Given the description of an element on the screen output the (x, y) to click on. 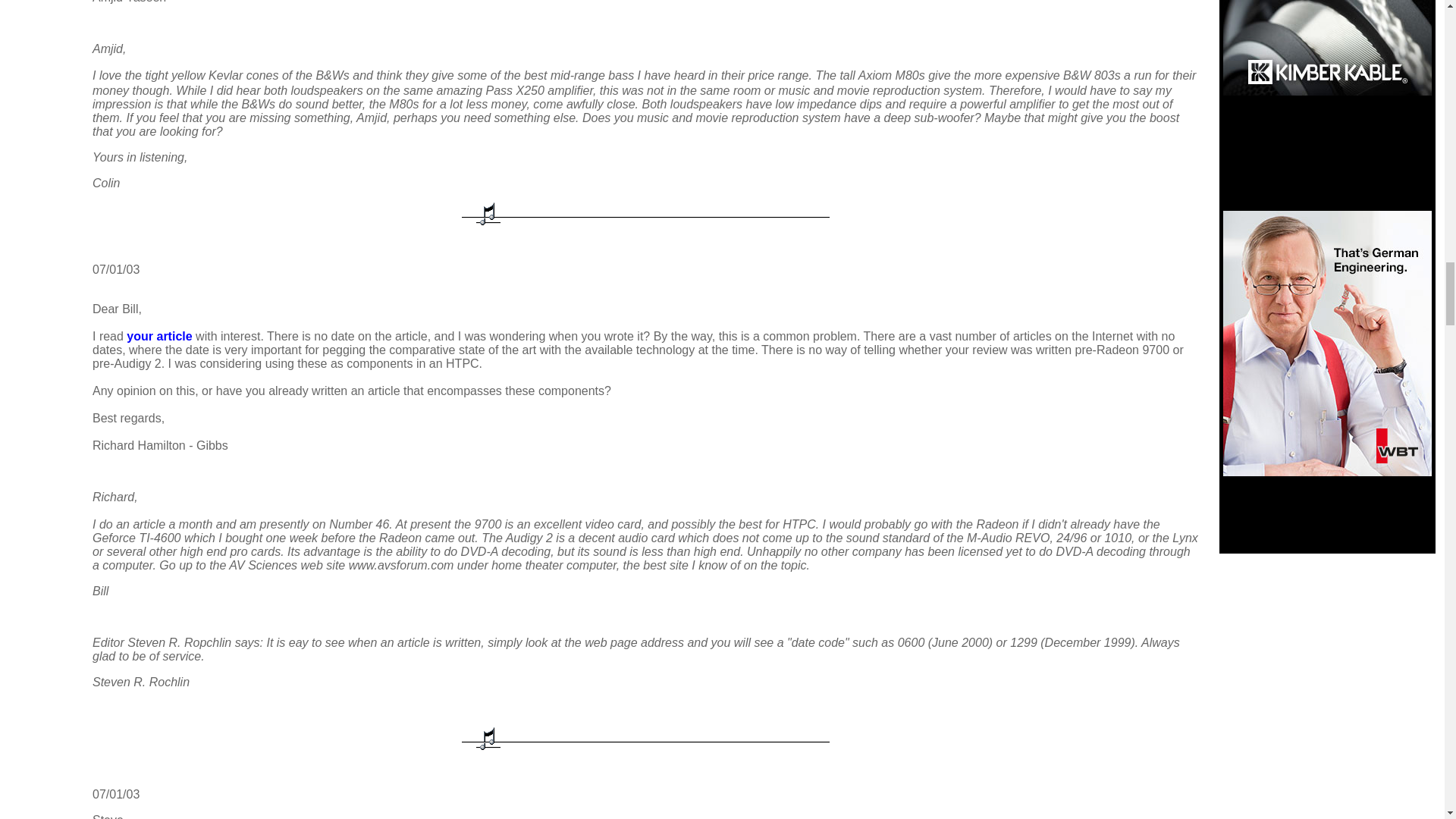
your article (159, 336)
